Given the description of an element on the screen output the (x, y) to click on. 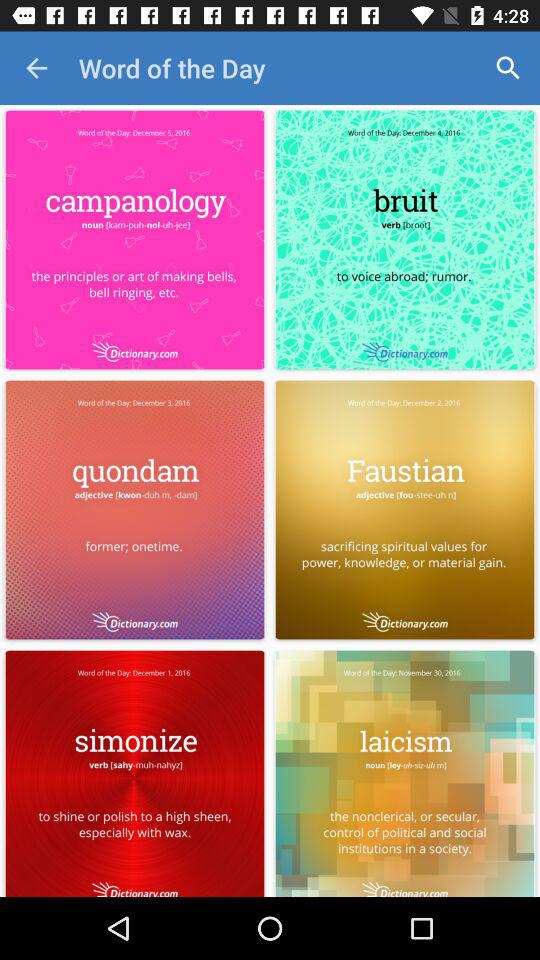
choose the icon to the right of word of the icon (508, 67)
